Given the description of an element on the screen output the (x, y) to click on. 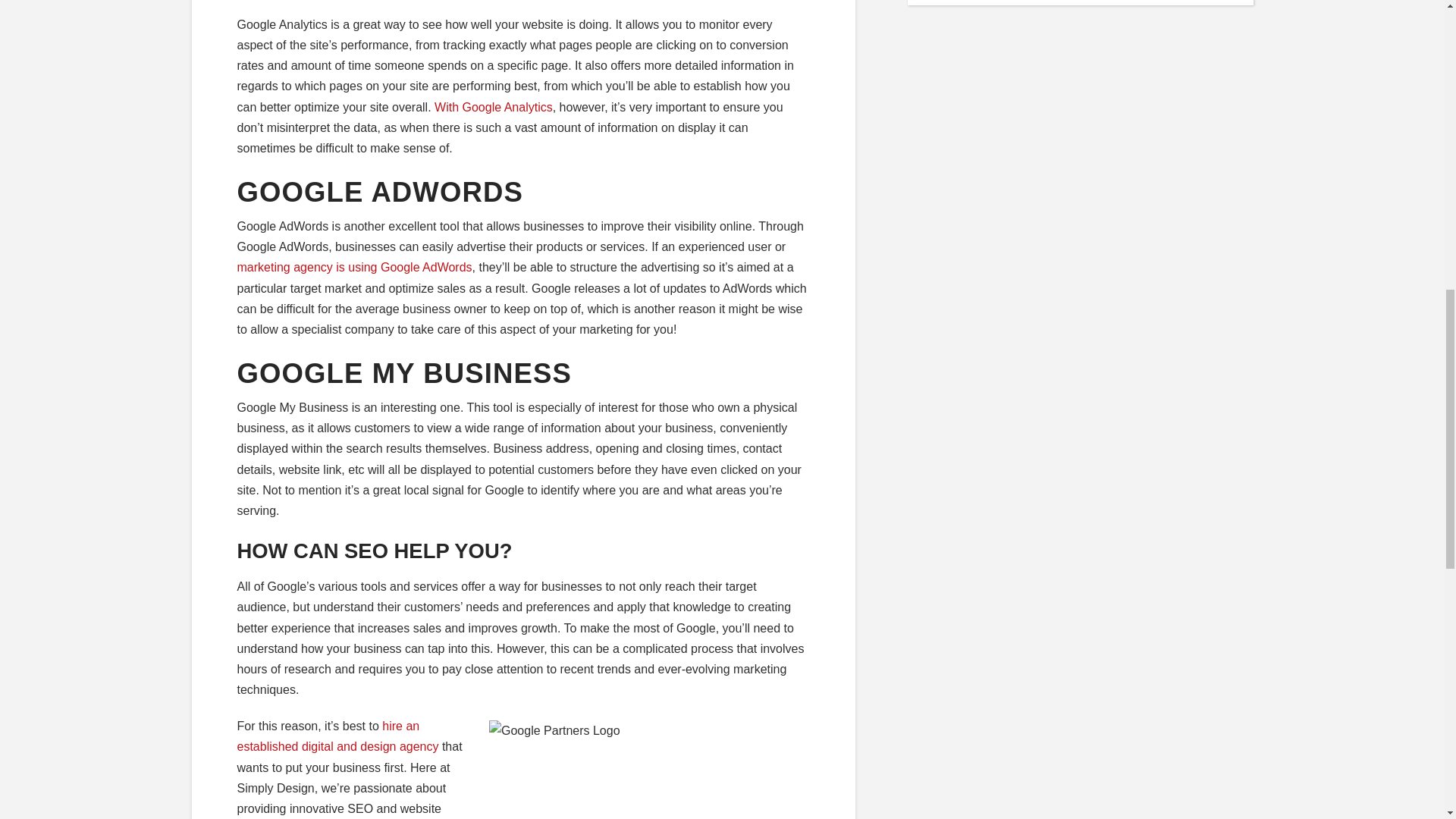
hire an established digital and design agency (336, 735)
Google AdWords (353, 267)
Google Analytics (493, 106)
Tips for Hiring an SEO Company (336, 735)
marketing agency is using Google AdWords (353, 267)
With Google Analytics (493, 106)
